Given the description of an element on the screen output the (x, y) to click on. 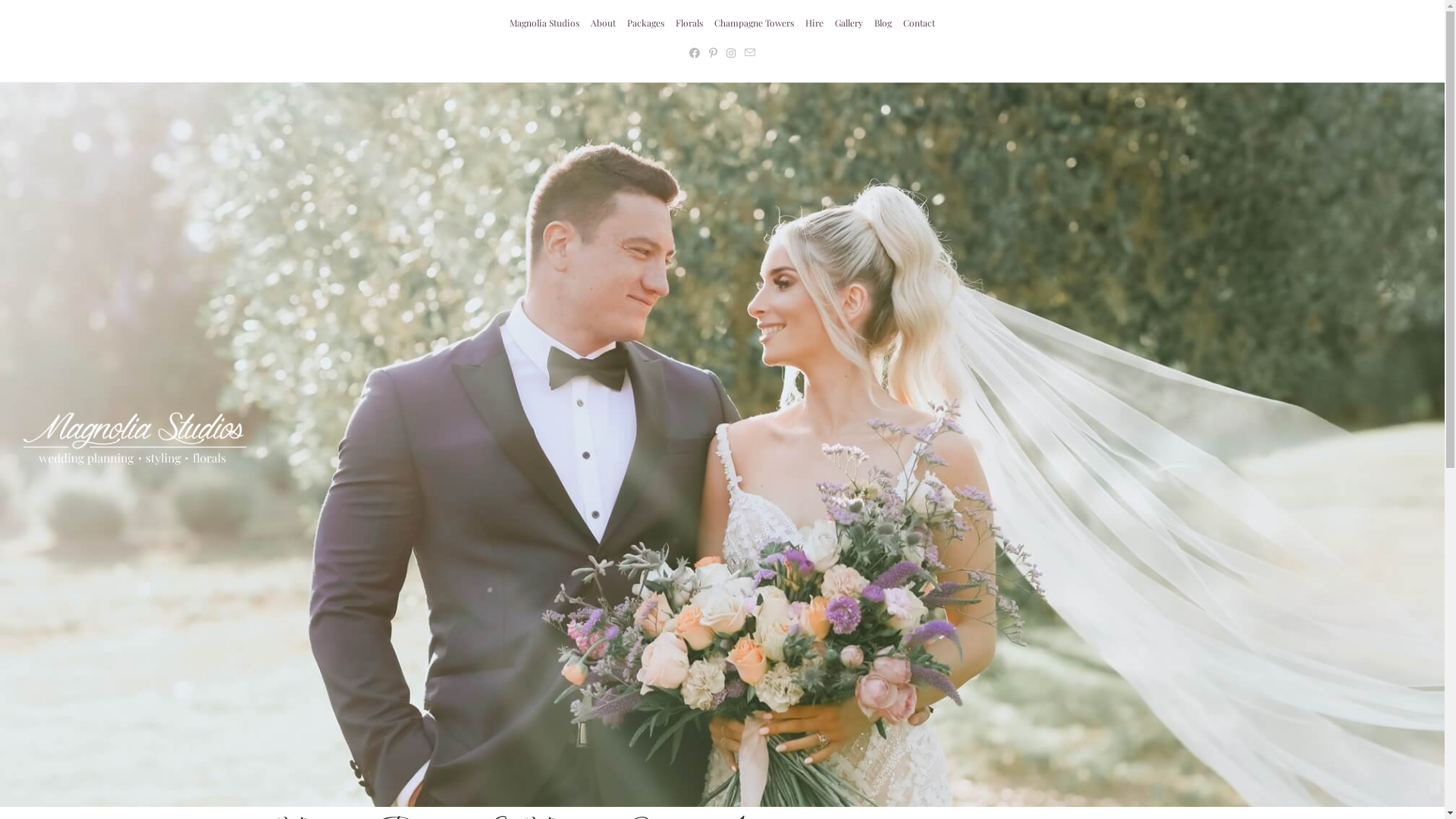
Gallery Element type: text (848, 23)
Magnolia Studios Element type: text (544, 23)
Contact Element type: text (919, 23)
Blog Element type: text (882, 23)
Packages Element type: text (645, 23)
About Element type: text (602, 23)
Florals Element type: text (688, 23)
Hire Element type: text (814, 23)
Champagne Towers Element type: text (753, 23)
